Given the description of an element on the screen output the (x, y) to click on. 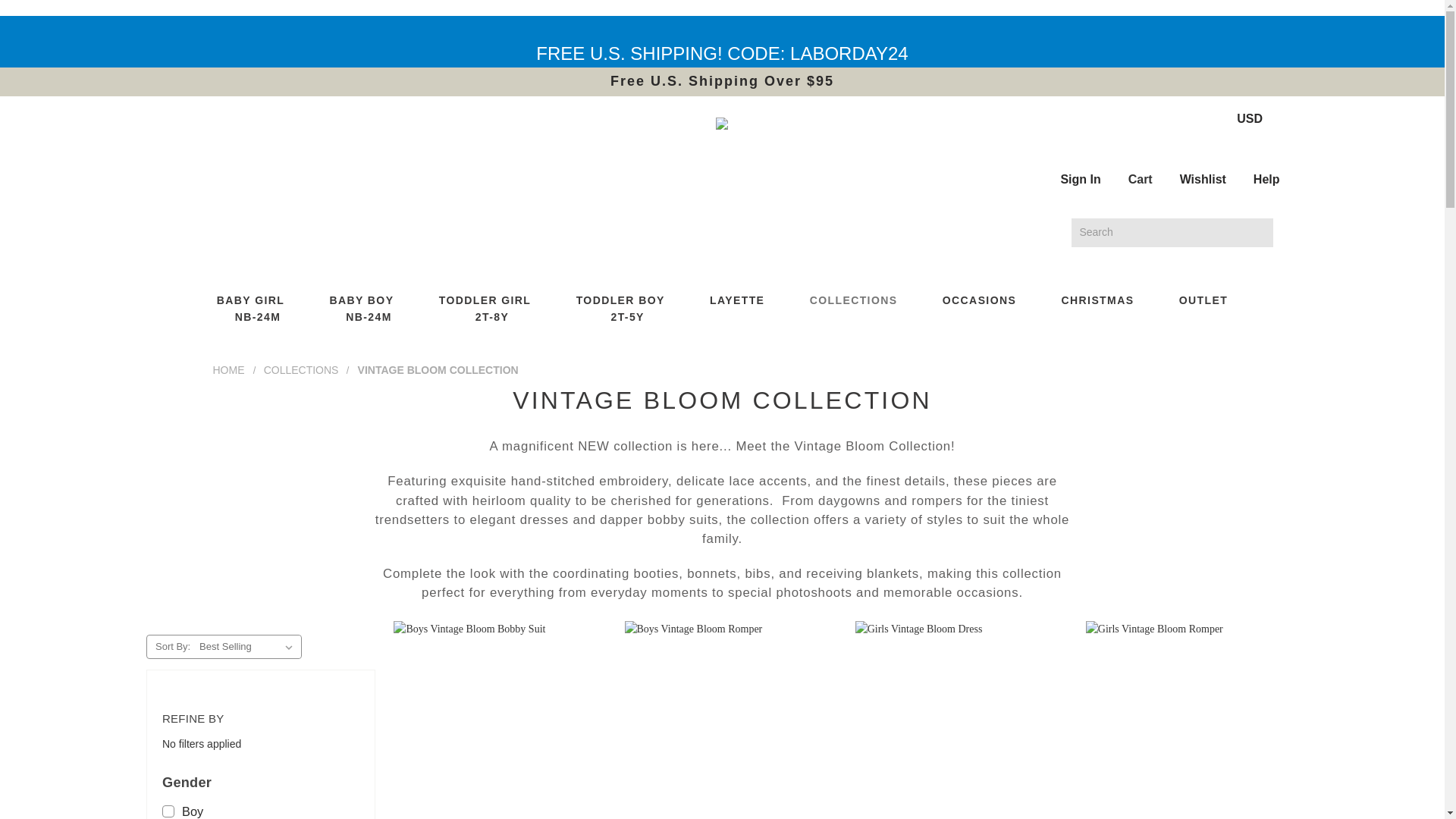
USD (1257, 118)
Wishlist (1203, 167)
Help (1267, 167)
Boy (260, 809)
BABY GIRL (258, 302)
Cart (1140, 167)
Sign In (1079, 167)
Feltman Brothers (722, 123)
